Given the description of an element on the screen output the (x, y) to click on. 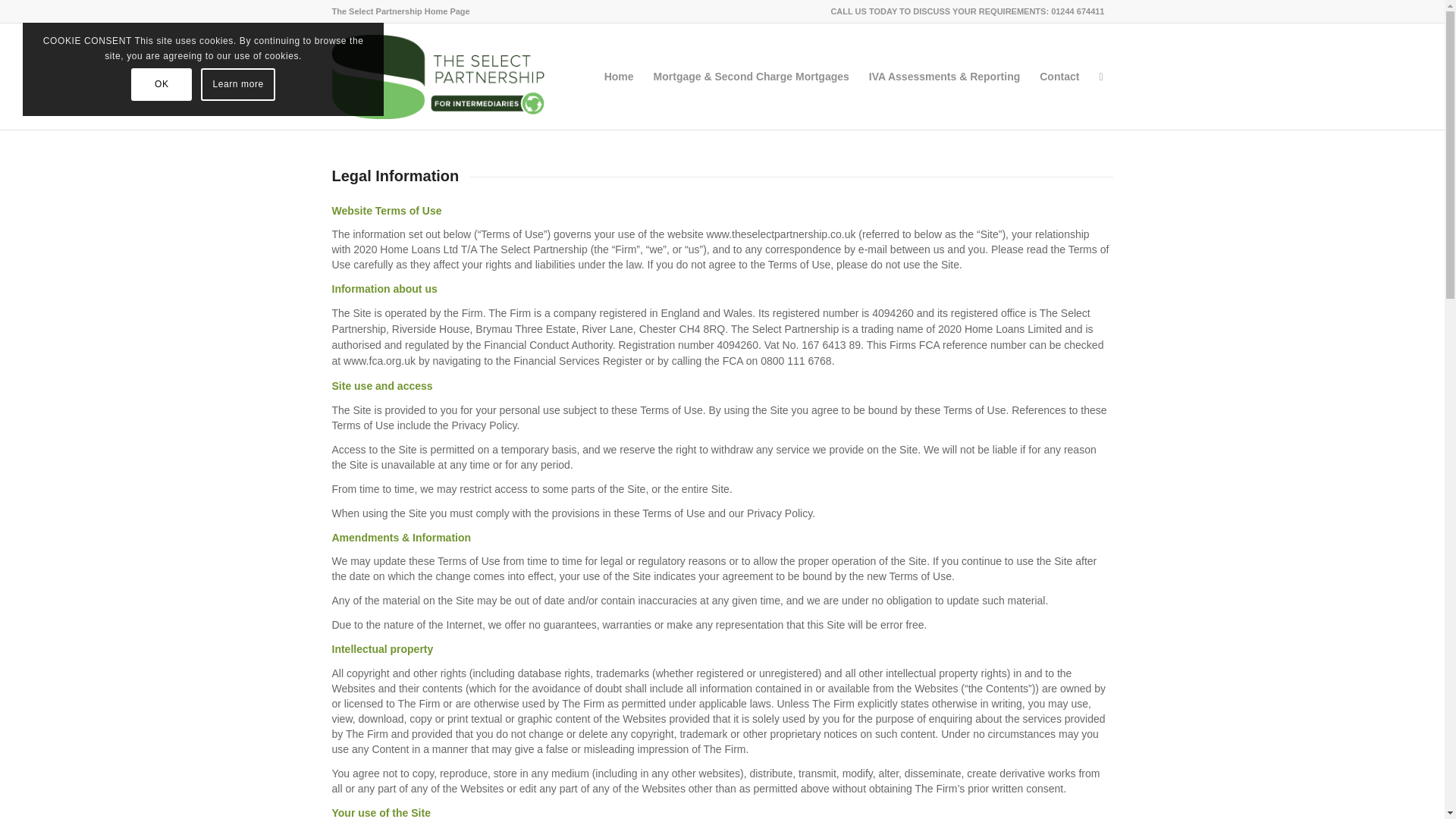
OK (161, 83)
The Select Partnership Home Page (400, 11)
Learn more (237, 83)
